Given the description of an element on the screen output the (x, y) to click on. 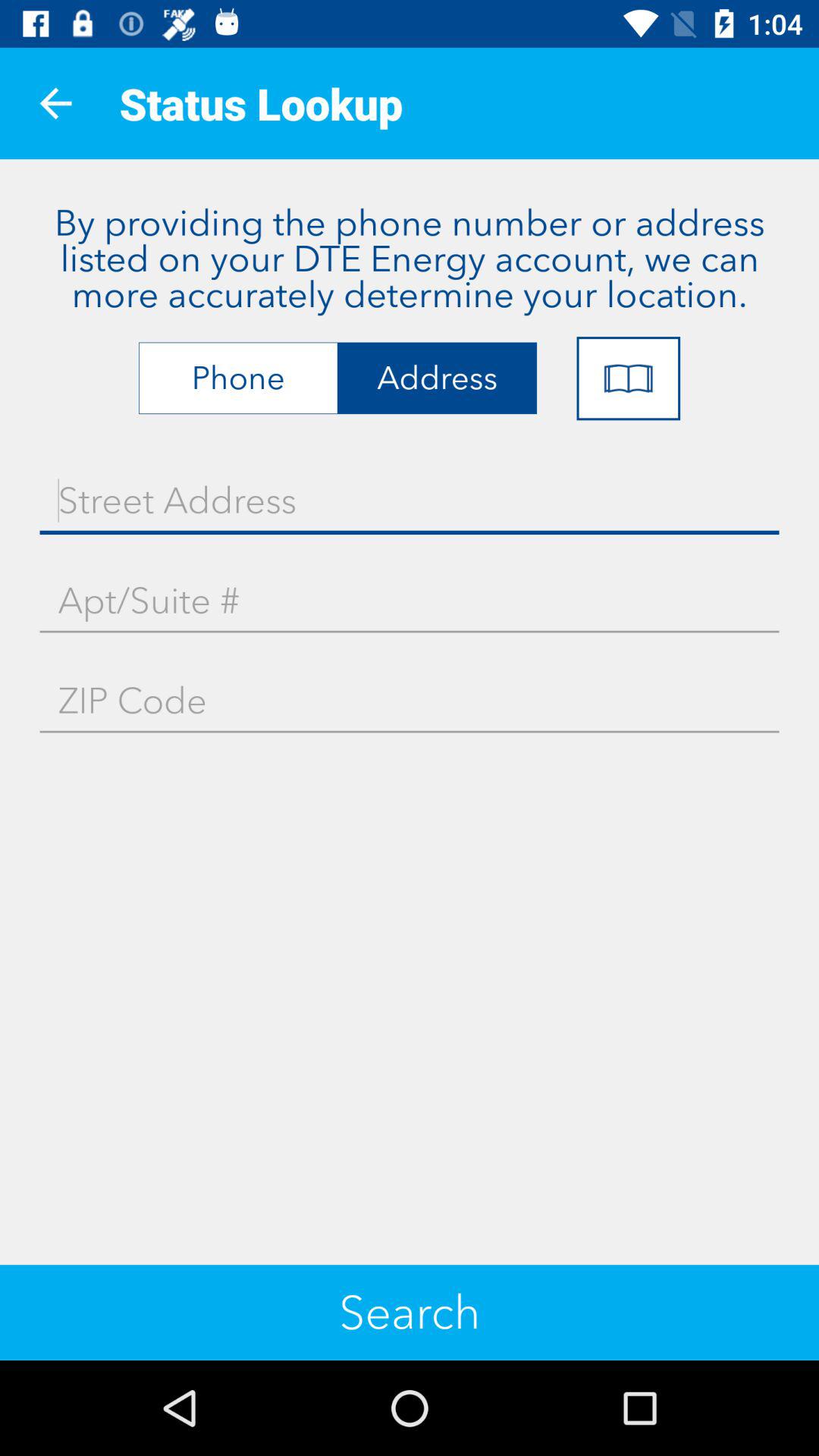
launch icon above search (409, 700)
